Given the description of an element on the screen output the (x, y) to click on. 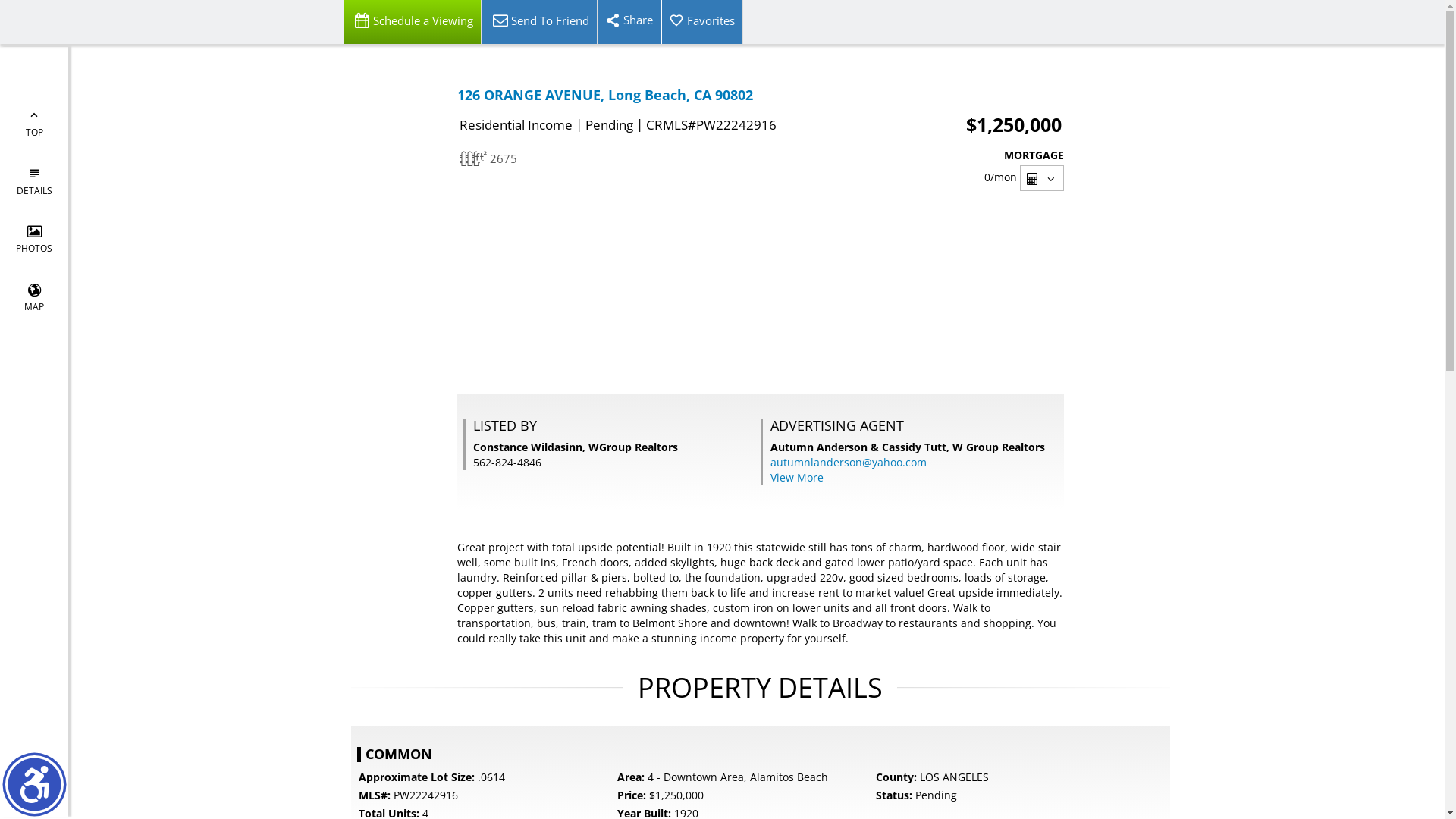
Send To Friend Element type: text (538, 21)
TOP Element type: text (34, 122)
DETAILS Element type: text (34, 180)
PHOTOS Element type: text (34, 239)
Favorites Element type: text (702, 21)
Schedule a Viewing Element type: text (411, 21)
MAP Element type: text (34, 297)
View More Element type: text (796, 477)
autumnlanderson@yahoo.com Element type: text (848, 462)
Share Element type: hover (629, 21)
